Given the description of an element on the screen output the (x, y) to click on. 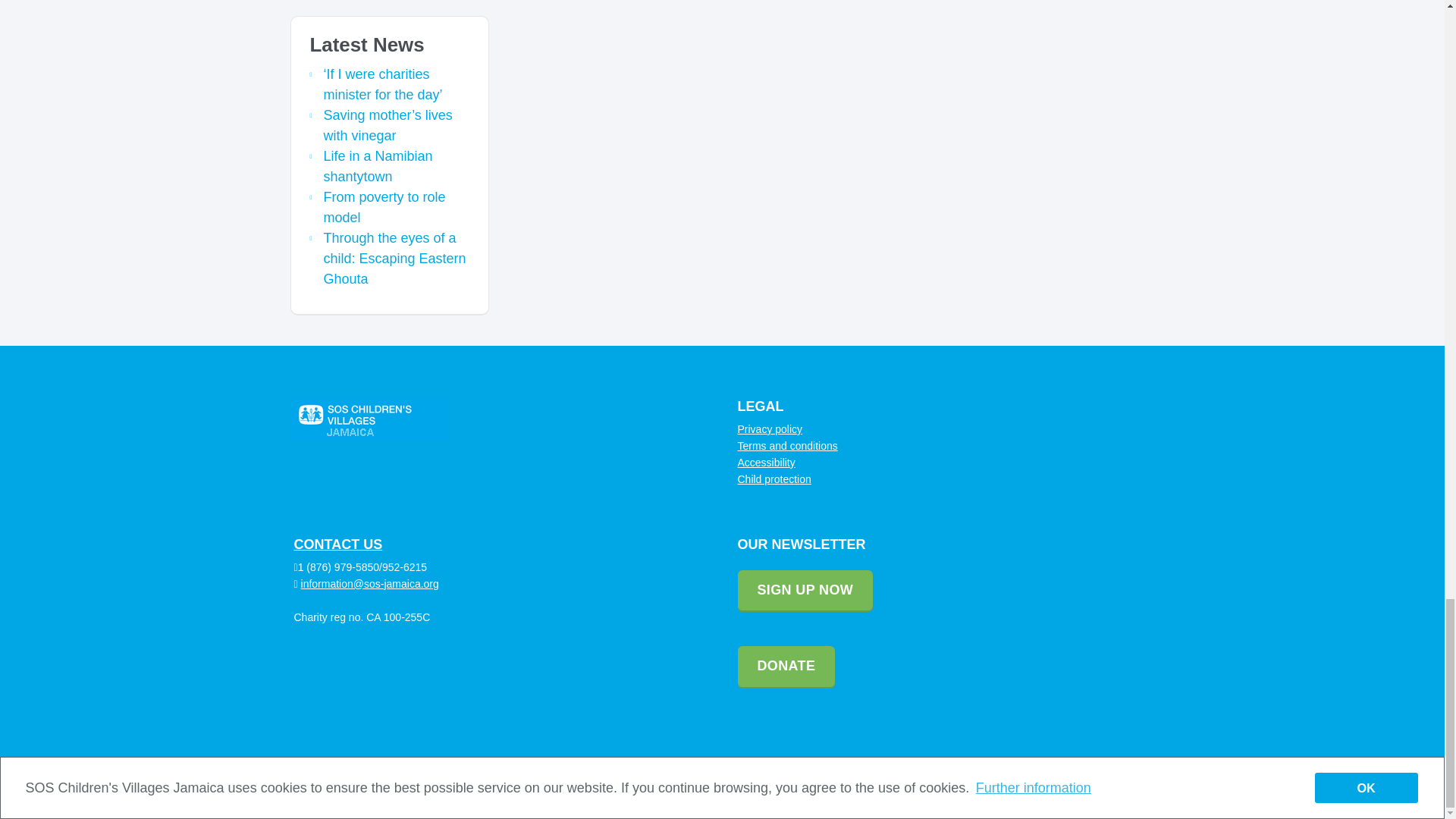
Home (961, 787)
Child protection (773, 479)
From poverty to role model (384, 207)
Terms and conditions (786, 445)
Press office (1023, 787)
SIGN UP NOW (804, 590)
Privacy policy (769, 428)
Accessibility (765, 462)
DONATE (785, 667)
CONTACT US (338, 544)
